Given the description of an element on the screen output the (x, y) to click on. 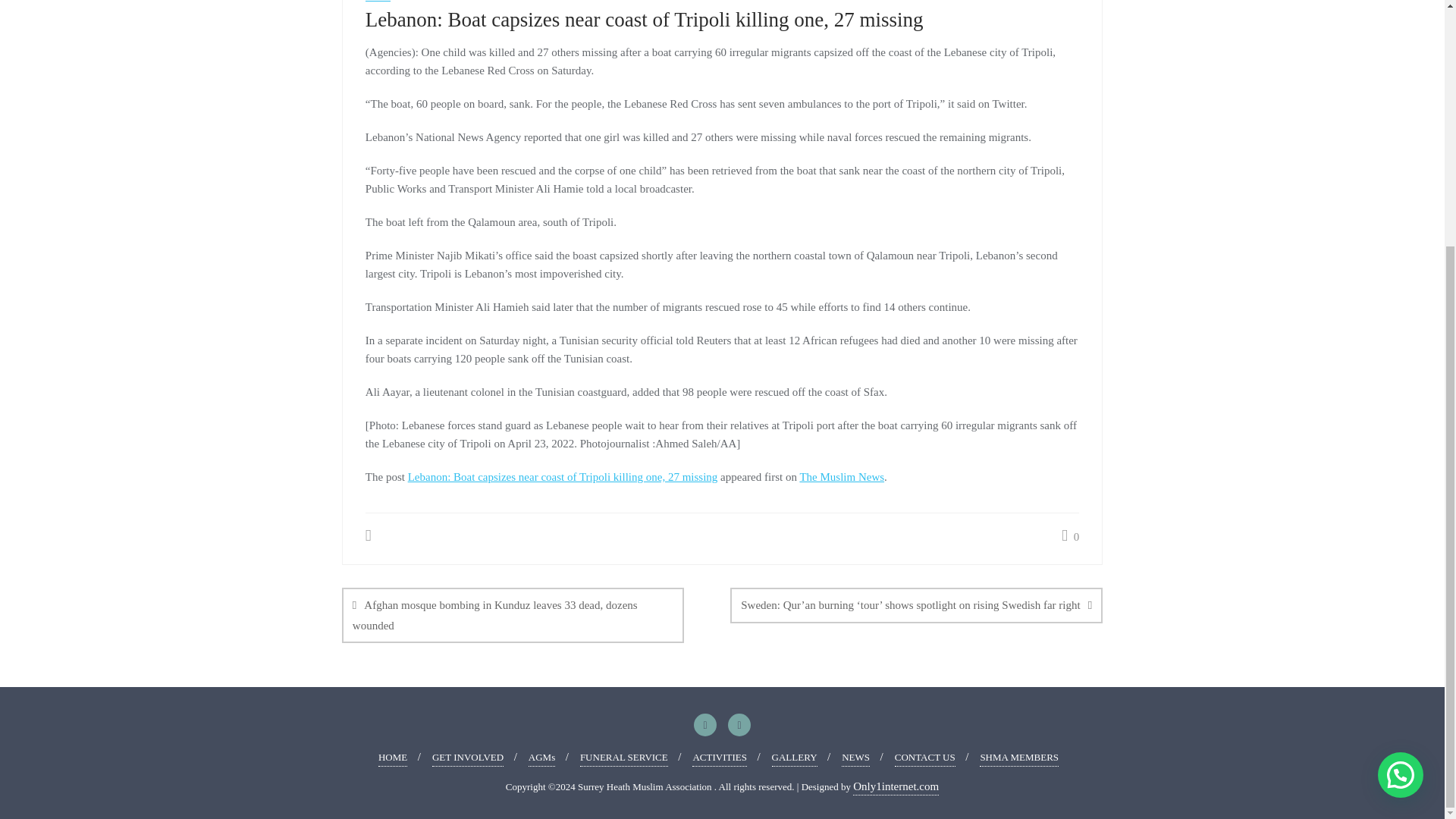
FUNERAL SERVICE (623, 757)
ACTIVITIES (719, 757)
AGMs (541, 757)
GET INVOLVED (467, 757)
HOME (392, 757)
The Muslim News (841, 476)
